Given the description of an element on the screen output the (x, y) to click on. 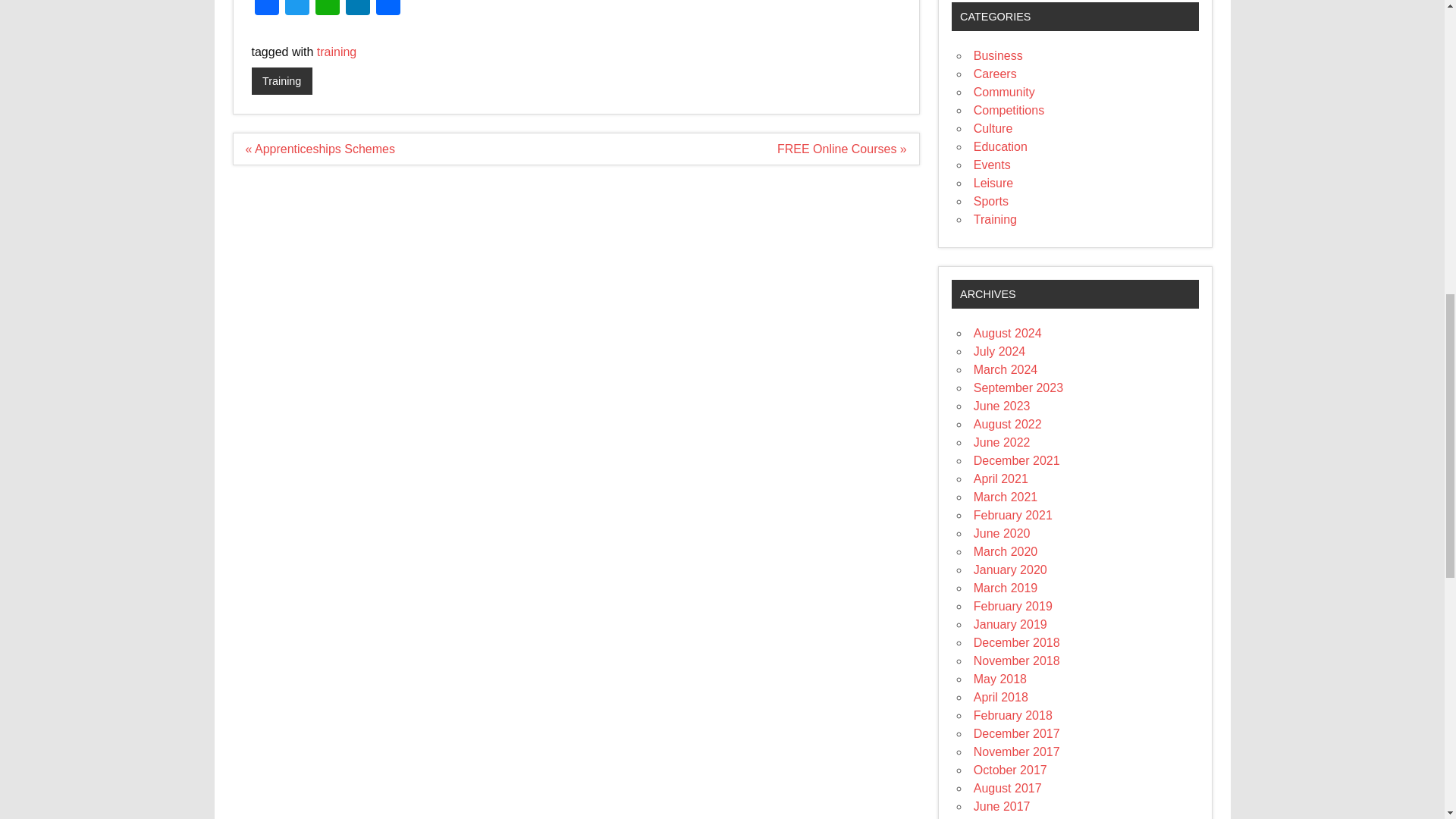
LinkedIn (357, 9)
Twitter (297, 9)
WhatsApp (327, 9)
Facebook (266, 9)
